Given the description of an element on the screen output the (x, y) to click on. 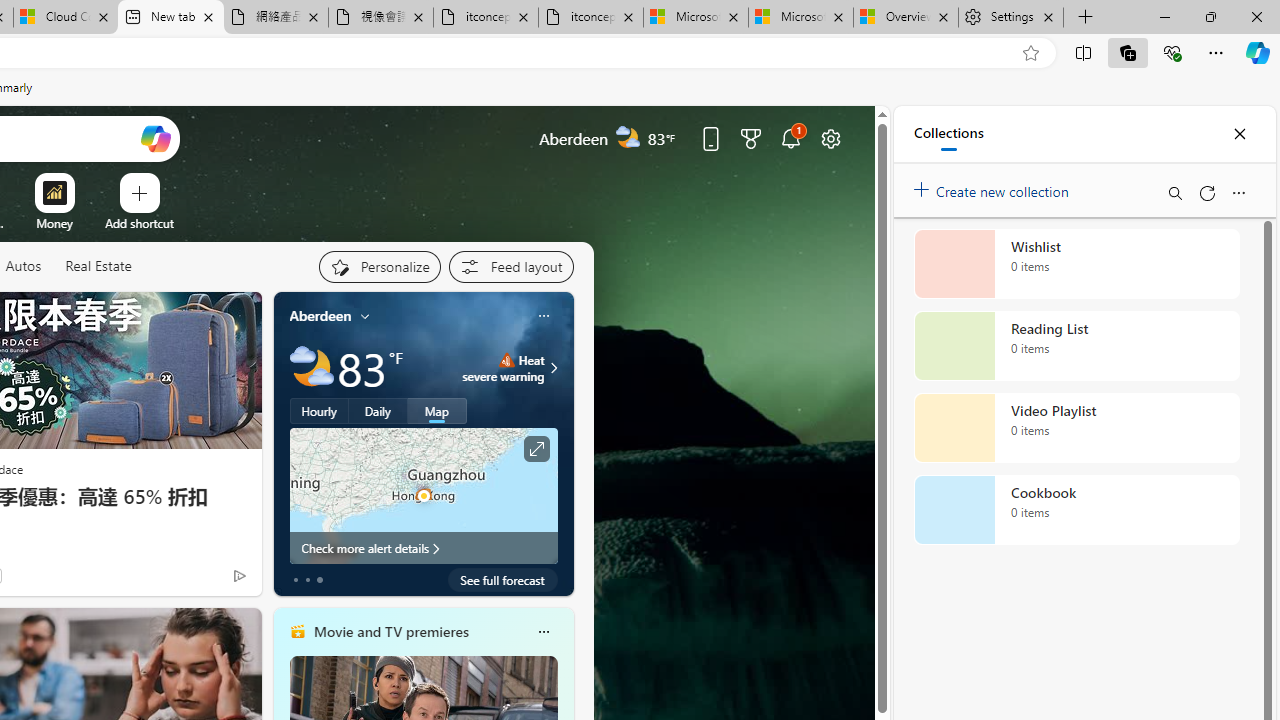
Heat - Severe Heat severe warning (503, 367)
Map (437, 411)
tab-0 (295, 579)
Movie and TV premieres (390, 631)
Real Estate (98, 265)
Create new collection (994, 188)
Heat - Severe (505, 359)
tab-1 (306, 579)
